Given the description of an element on the screen output the (x, y) to click on. 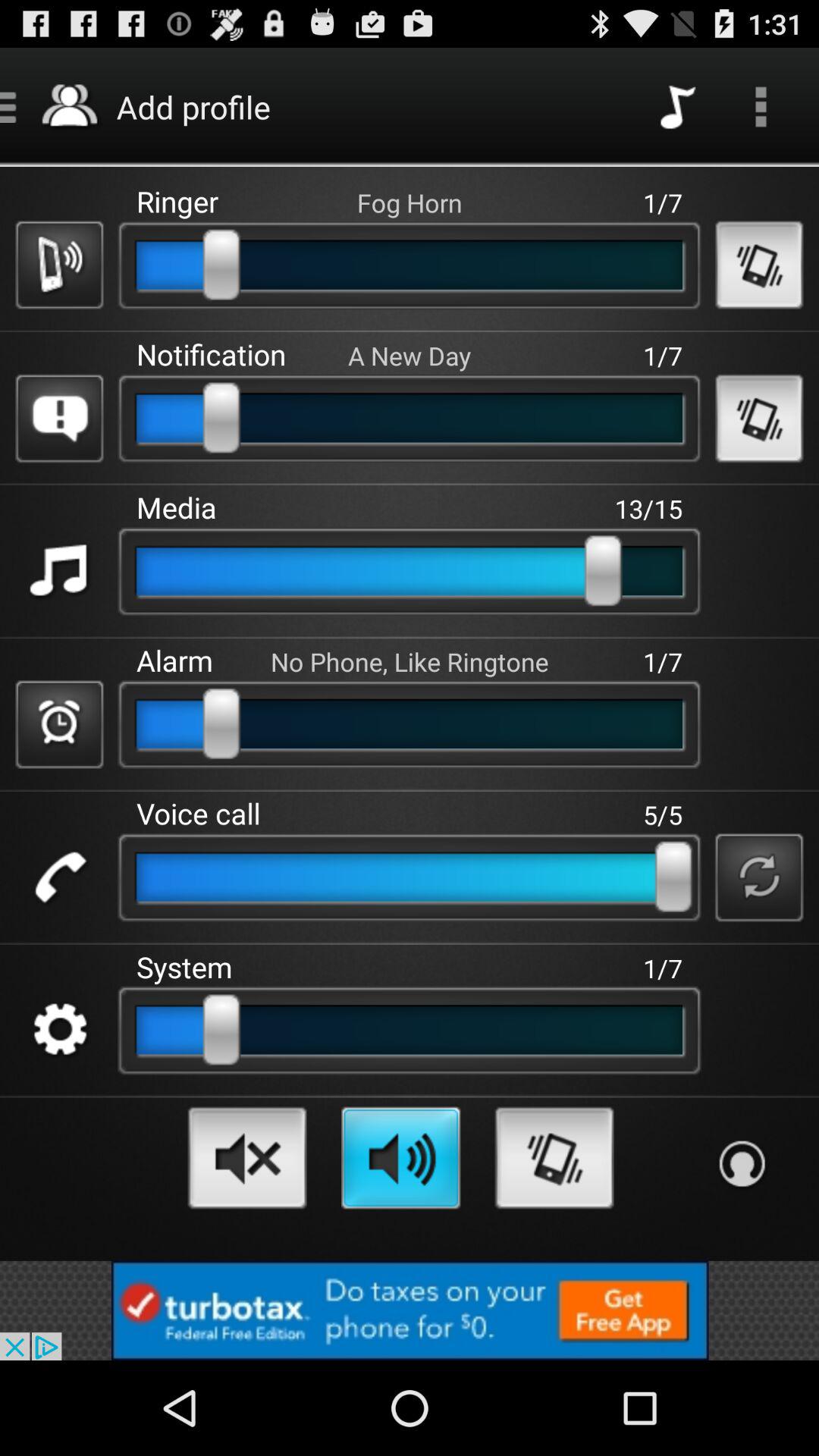
switch advertisement link (409, 1310)
